Given the description of an element on the screen output the (x, y) to click on. 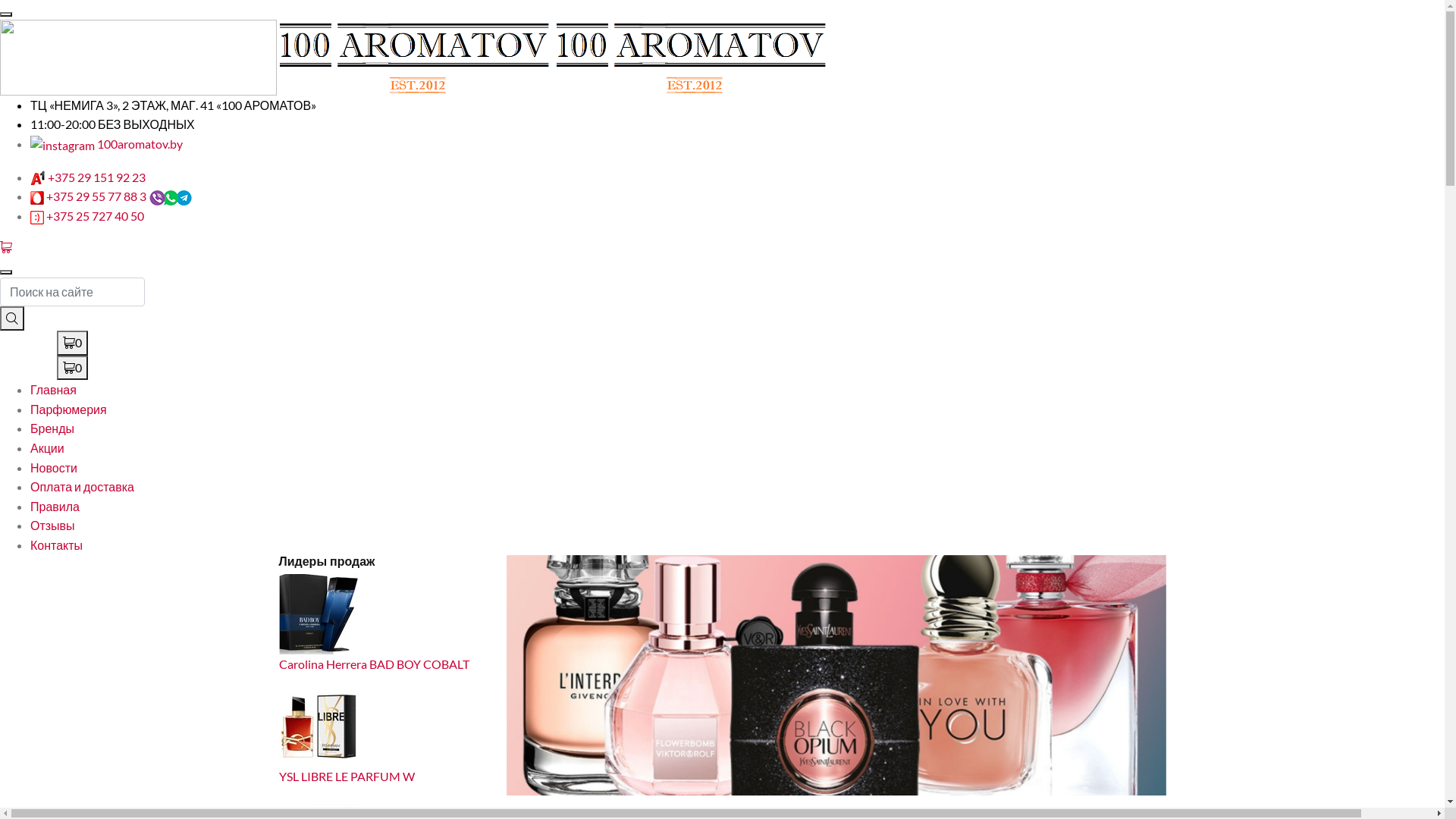
100aromatov.by Element type: text (106, 143)
YSL LIBRE LE PARFUM W Element type: text (346, 775)
0 Element type: text (71, 367)
Carolina Herrera BAD BOY COBALT Element type: text (374, 663)
0 Element type: text (71, 342)
+375 29 151 92 23 Element type: text (96, 176)
Next Element type: text (1116, 675)
0 Element type: text (71, 367)
+375 25 727 40 50 Element type: text (95, 215)
Previous Element type: text (555, 675)
+375 29 55 77 88 3 Element type: text (96, 195)
